Given the description of an element on the screen output the (x, y) to click on. 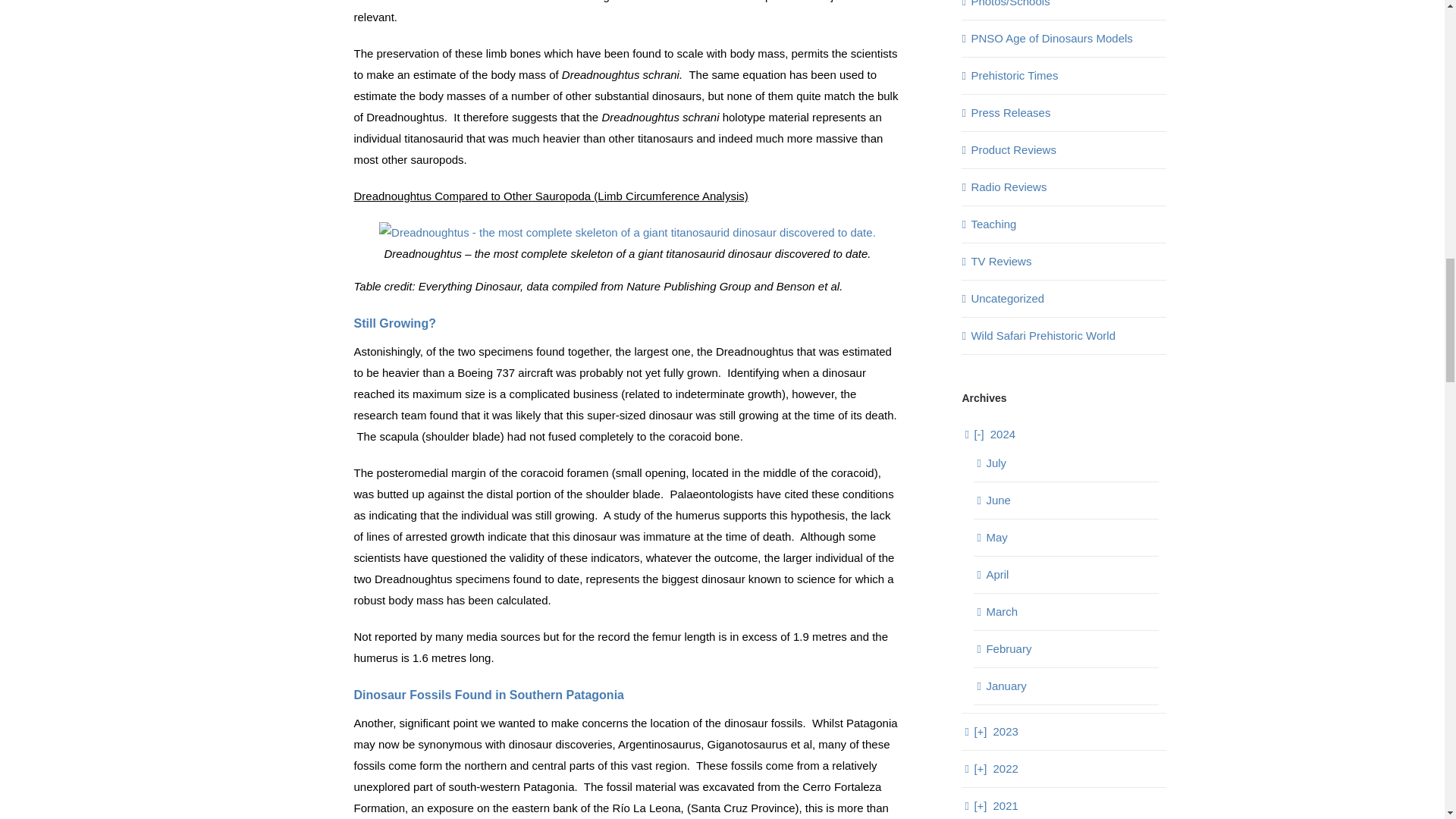
April (997, 574)
June (997, 499)
May (996, 536)
2024 (994, 433)
July (995, 462)
March (1001, 611)
